Given the description of an element on the screen output the (x, y) to click on. 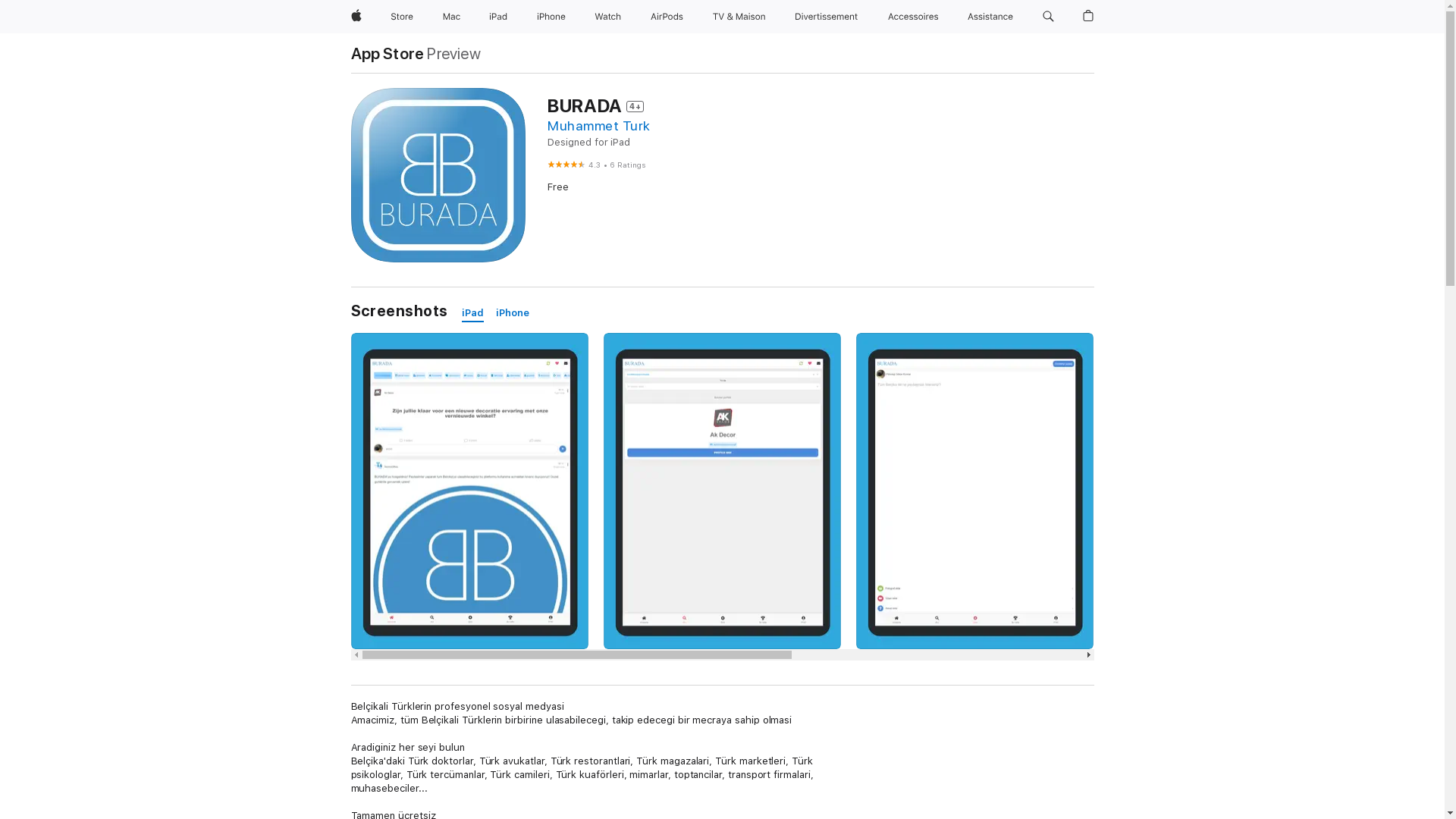
iPad Element type: text (472, 313)
Apple Element type: text (355, 16)
Mac Element type: text (451, 16)
AirPods Element type: text (666, 16)
Muhammet Turk Element type: text (598, 125)
Accessoires Element type: text (912, 16)
Store Element type: text (401, 16)
Assistance Element type: text (990, 16)
TV & Maison Element type: text (738, 16)
Watch Element type: text (607, 16)
Divertissements Element type: text (826, 16)
iPad Element type: text (498, 16)
iPhone Element type: text (550, 16)
iPhone Element type: text (512, 313)
App Store Element type: text (386, 53)
